Given the description of an element on the screen output the (x, y) to click on. 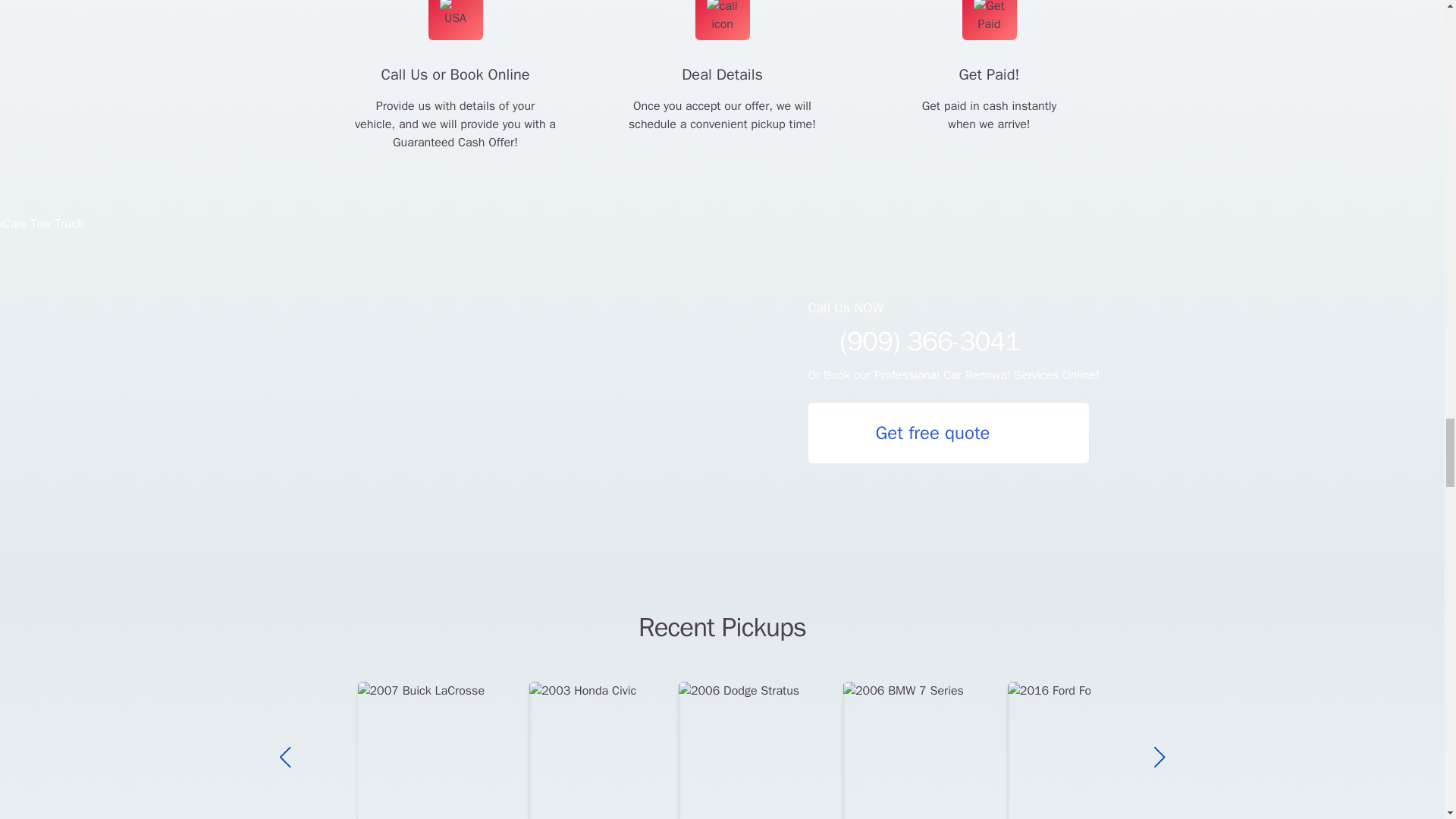
2006 BMW 7 Series (925, 750)
2003 Honda Civic (603, 750)
2007 Buick LaCrosse (443, 750)
2016 Ford Focus (1079, 750)
2006 Dodge Stratus (760, 750)
